Given the description of an element on the screen output the (x, y) to click on. 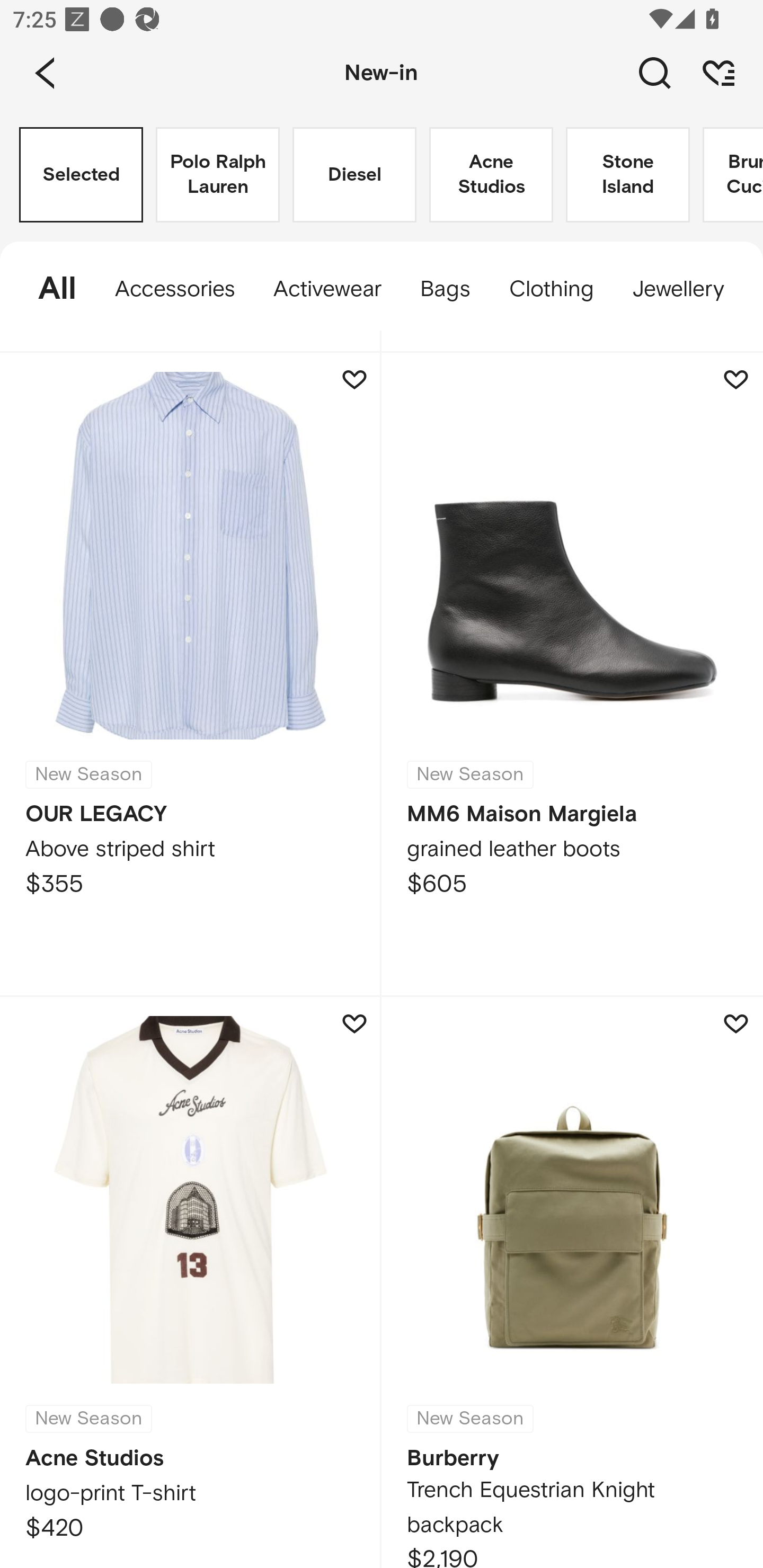
Selected (81, 174)
Polo Ralph Lauren (217, 174)
Diesel (354, 174)
Acne Studios (490, 174)
Stone Island (627, 174)
New Season OUR LEGACY Above striped shirt $355 (190, 674)
New Season Acne Studios logo-print T-shirt $420 (190, 1282)
